Given the description of an element on the screen output the (x, y) to click on. 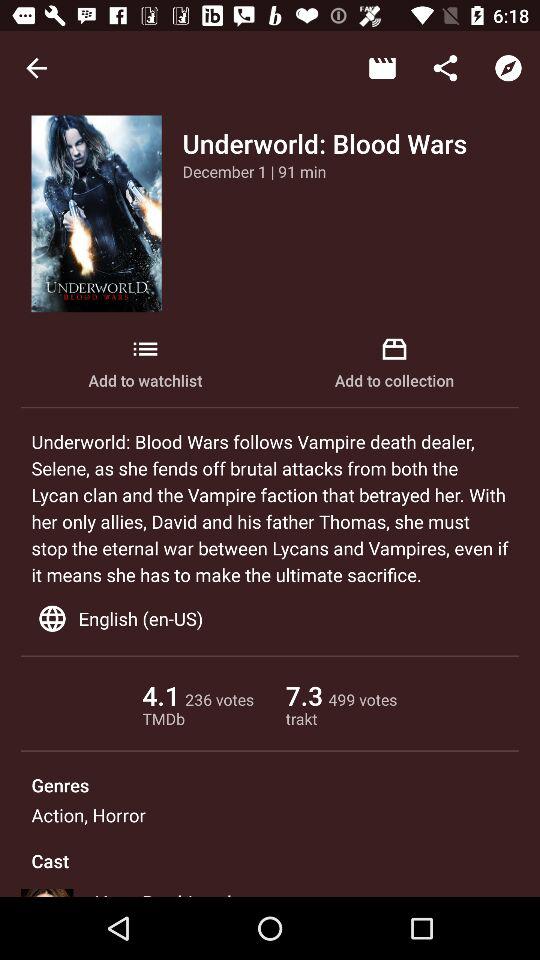
turn on the item above underworld: blood wars icon (381, 67)
